Given the description of an element on the screen output the (x, y) to click on. 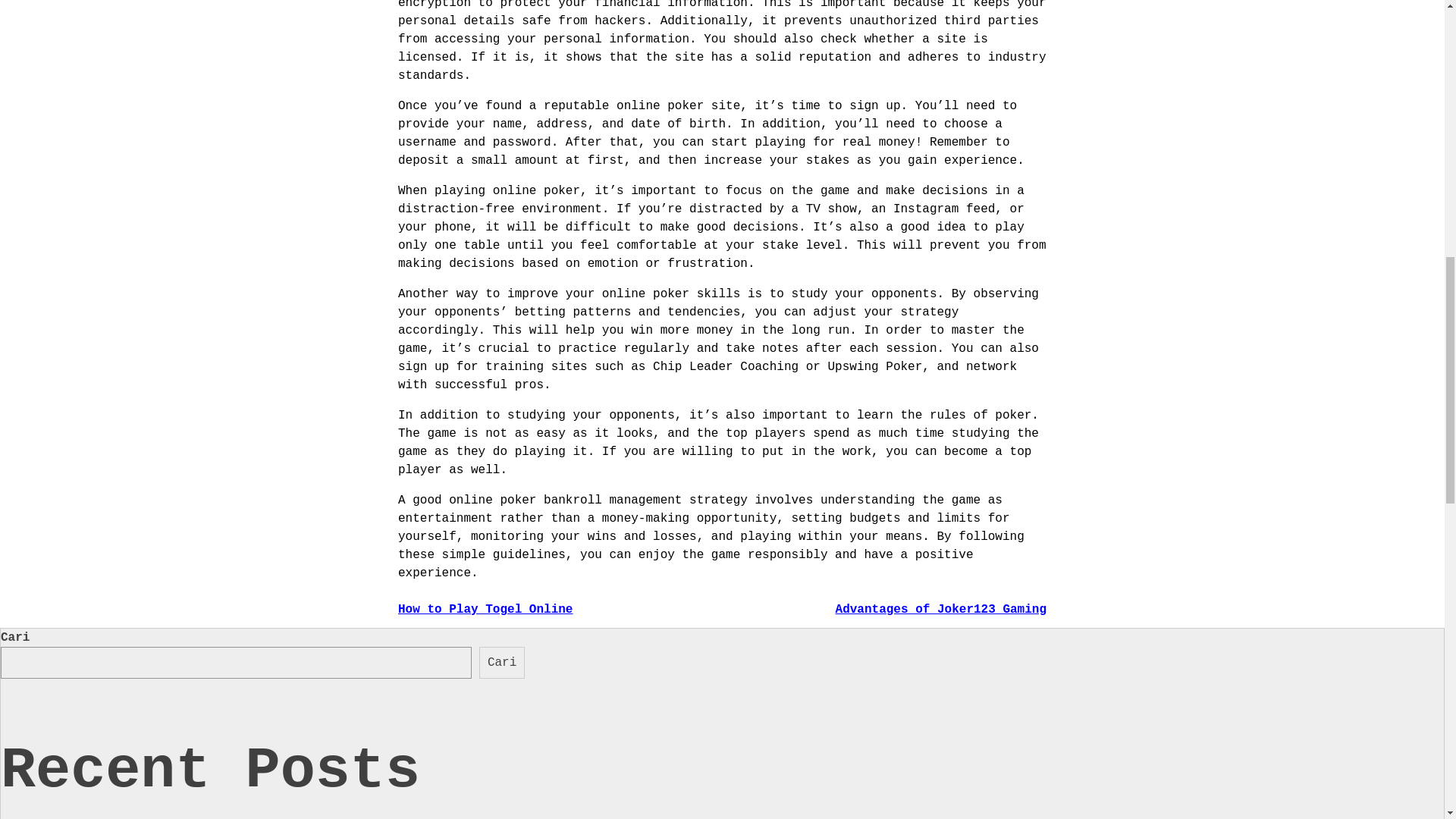
Advantages of Joker123 Gaming (940, 609)
How to Play Togel Online (484, 609)
Cari (501, 662)
